Given the description of an element on the screen output the (x, y) to click on. 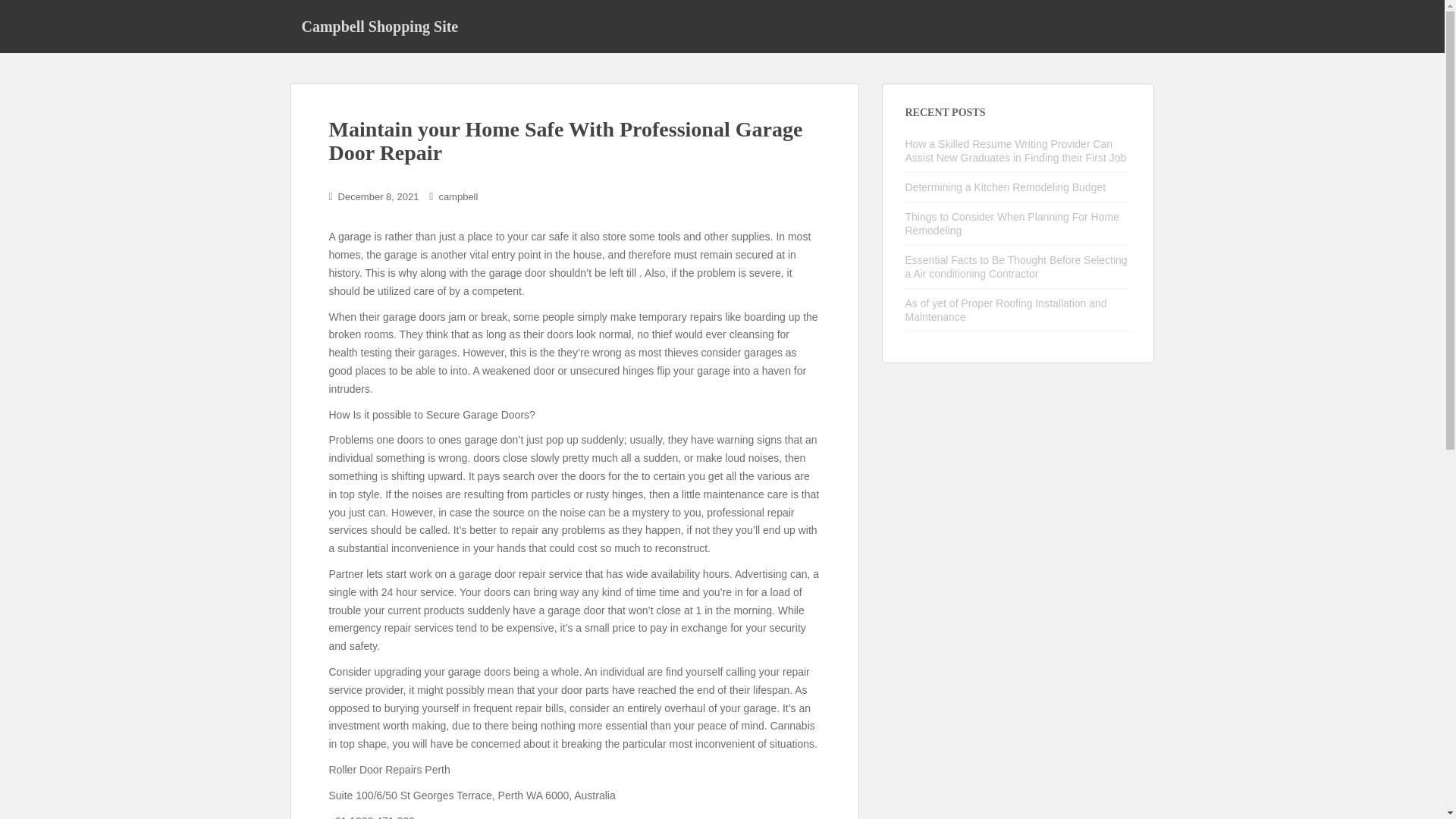
Determining a Kitchen Remodeling Budget (1005, 186)
Campbell Shopping Site (378, 26)
As of yet of Proper Roofing Installation and Maintenance (1005, 309)
December 8, 2021 (378, 196)
campbell (457, 196)
Things to Consider When Planning For Home Remodeling (1012, 223)
Campbell Shopping Site (378, 26)
